Given the description of an element on the screen output the (x, y) to click on. 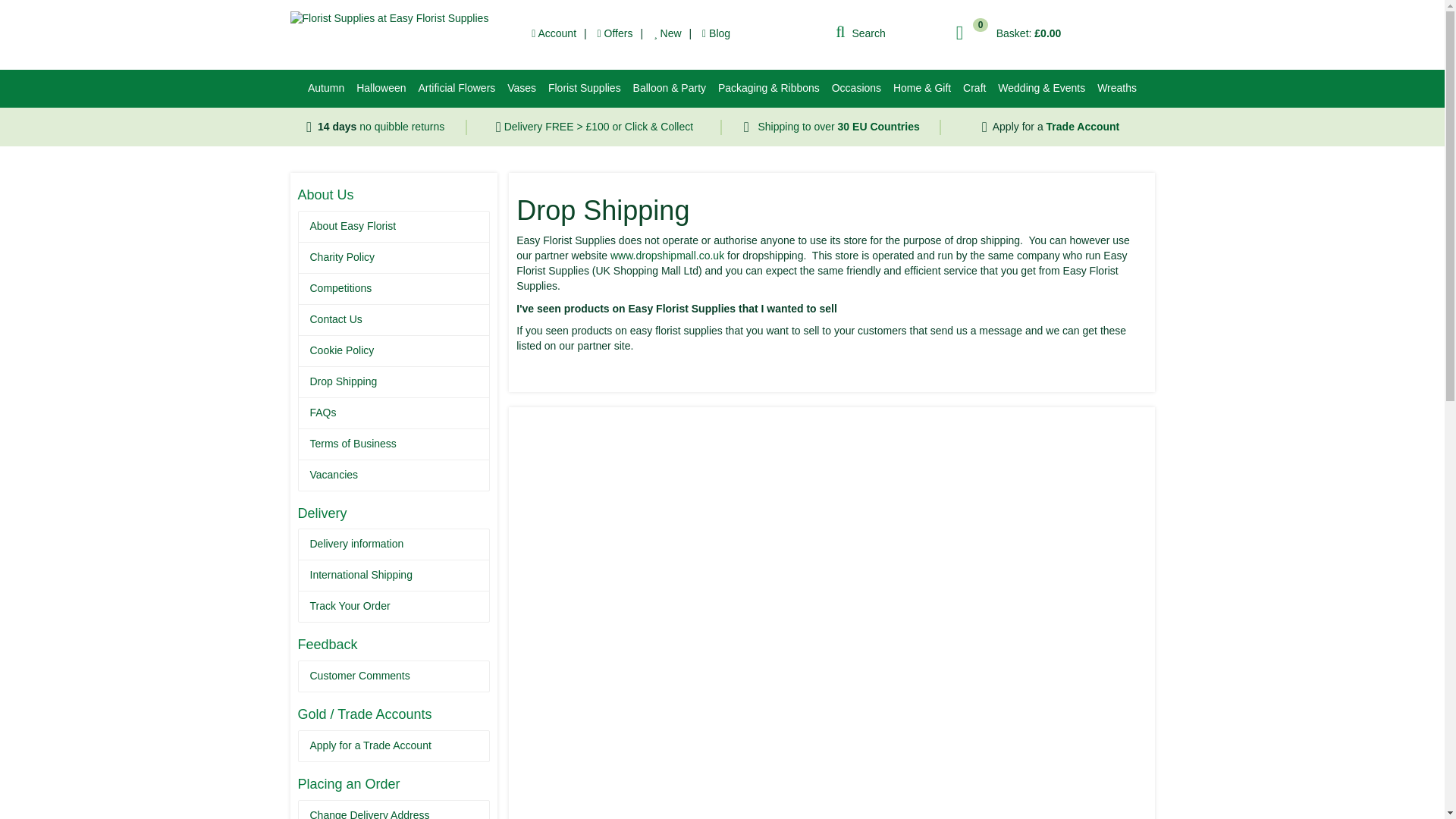
Artificial Flowers (456, 88)
Blog (715, 33)
Halloween (381, 88)
New (667, 33)
Offers (614, 33)
Account (553, 33)
Delivery Your Florist Supplies (598, 126)
Delivery Your Florist Supplies (839, 126)
Autumn (325, 88)
